Given the description of an element on the screen output the (x, y) to click on. 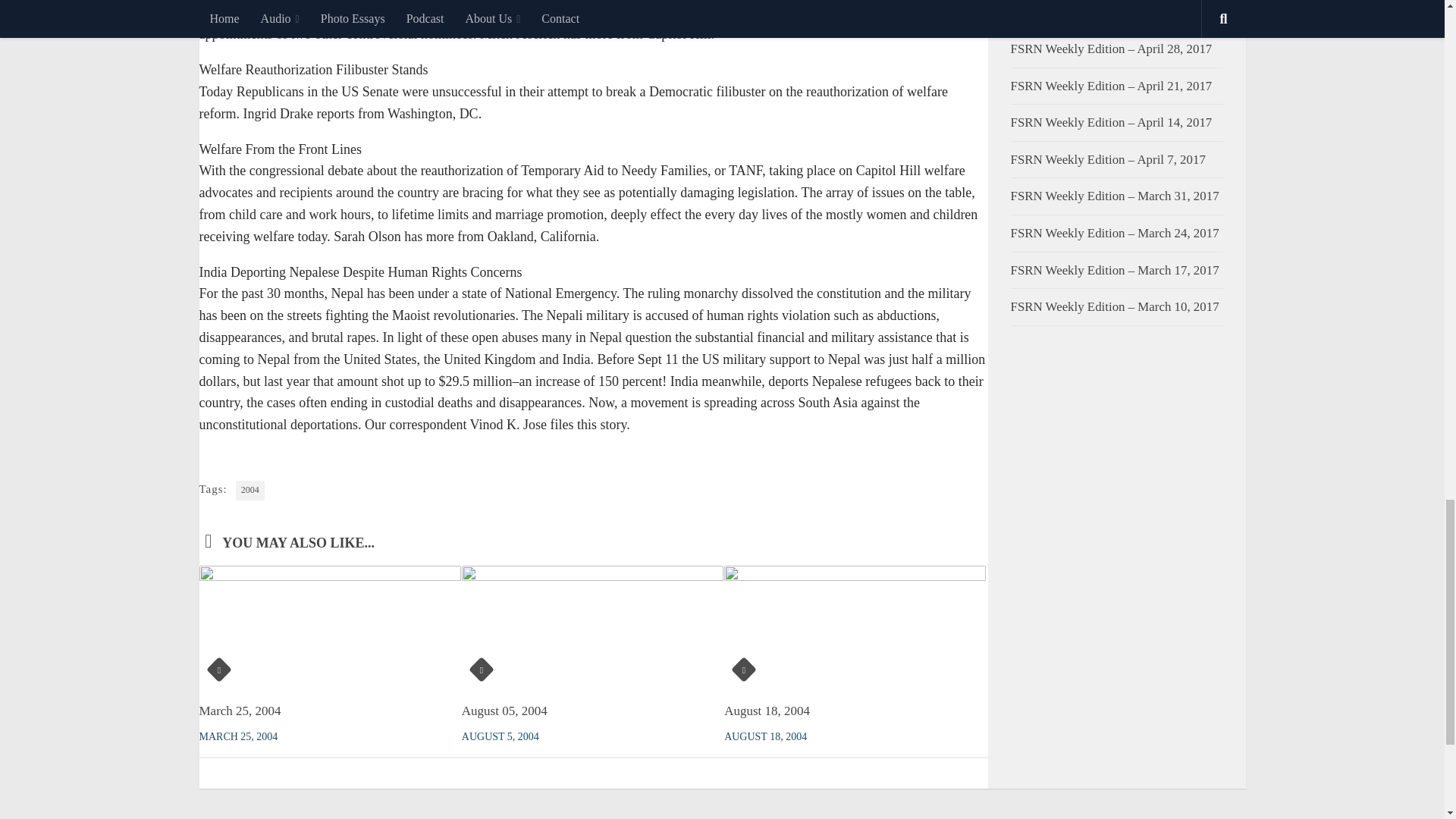
March 25, 2004 (239, 710)
August 18, 2004 (766, 710)
2004 (249, 490)
August 05, 2004 (504, 710)
